Given the description of an element on the screen output the (x, y) to click on. 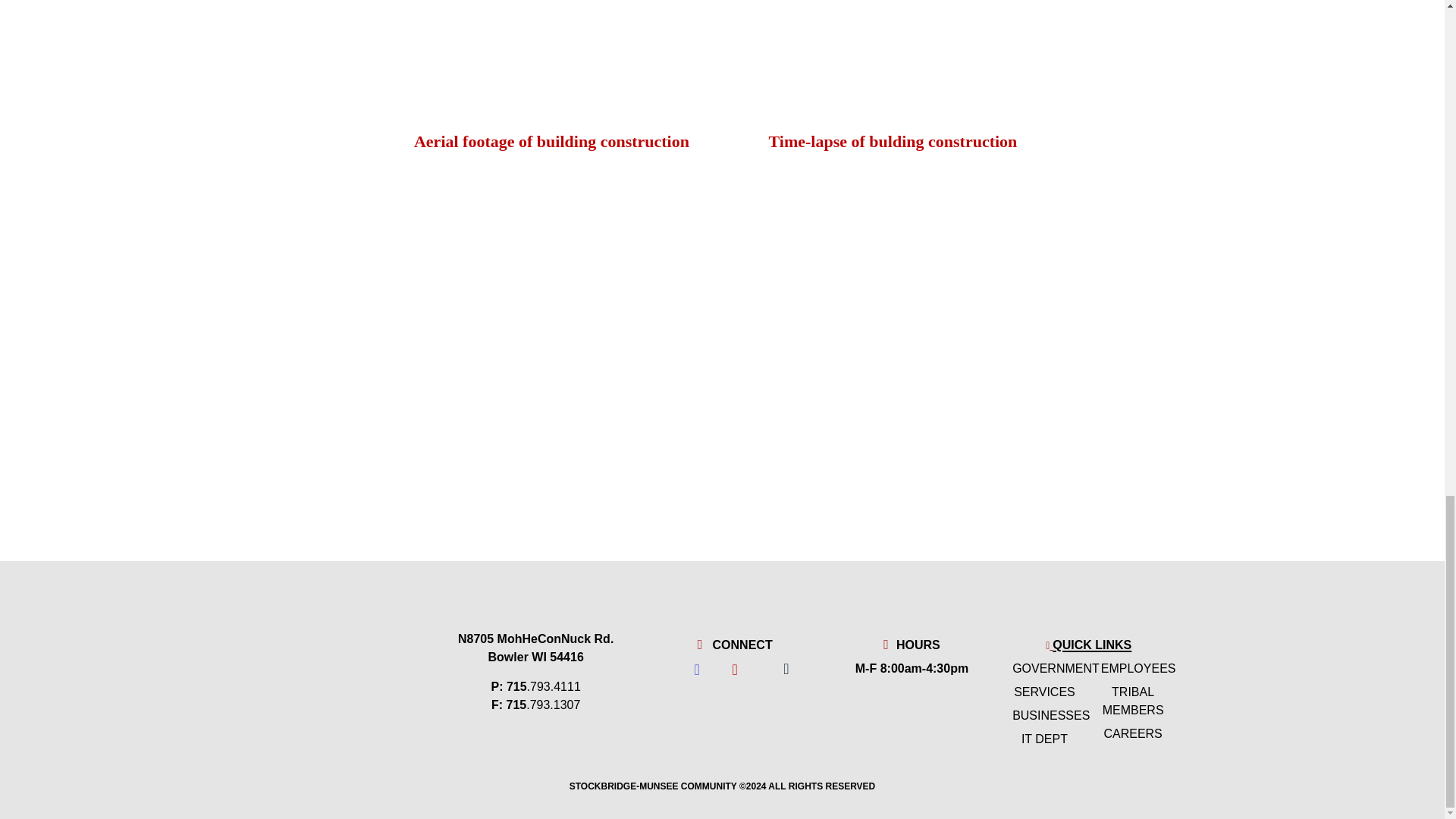
Ella Besaw Building Progress (890, 268)
